Given the description of an element on the screen output the (x, y) to click on. 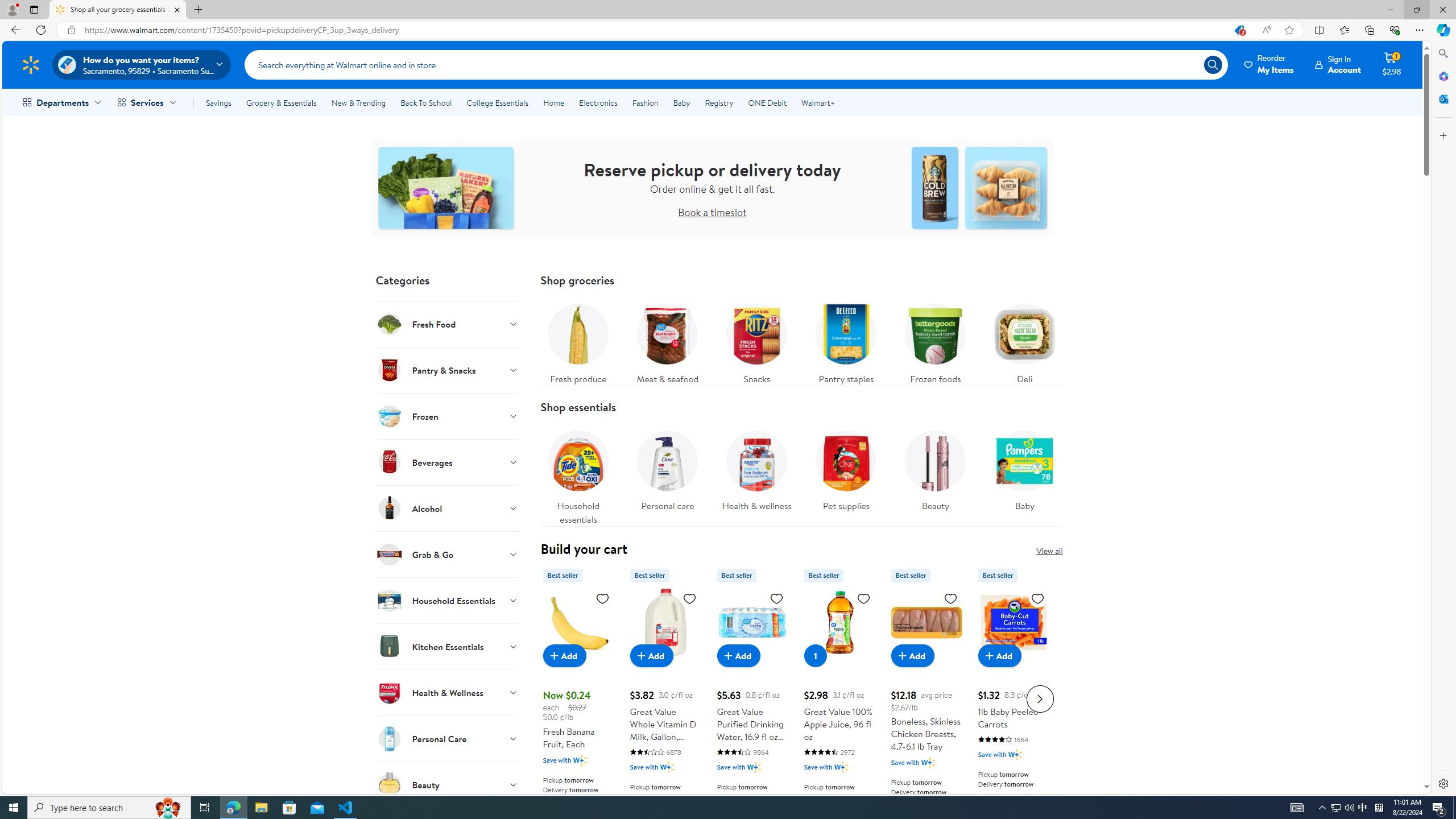
Sign in to add to Favorites list, 1lb Baby Peeled Carrots (1036, 597)
Walmart+ (817, 102)
Health & Wellness (446, 692)
Sign InAccount (1338, 64)
Baby (1024, 473)
Back To School (425, 102)
1 in cart, Great Value 100% Apple Juice, 96 fl oz (815, 655)
This site has coupons! Shopping in Microsoft Edge, 7 (1239, 29)
Snacks (756, 340)
Beauty (935, 473)
